Given the description of an element on the screen output the (x, y) to click on. 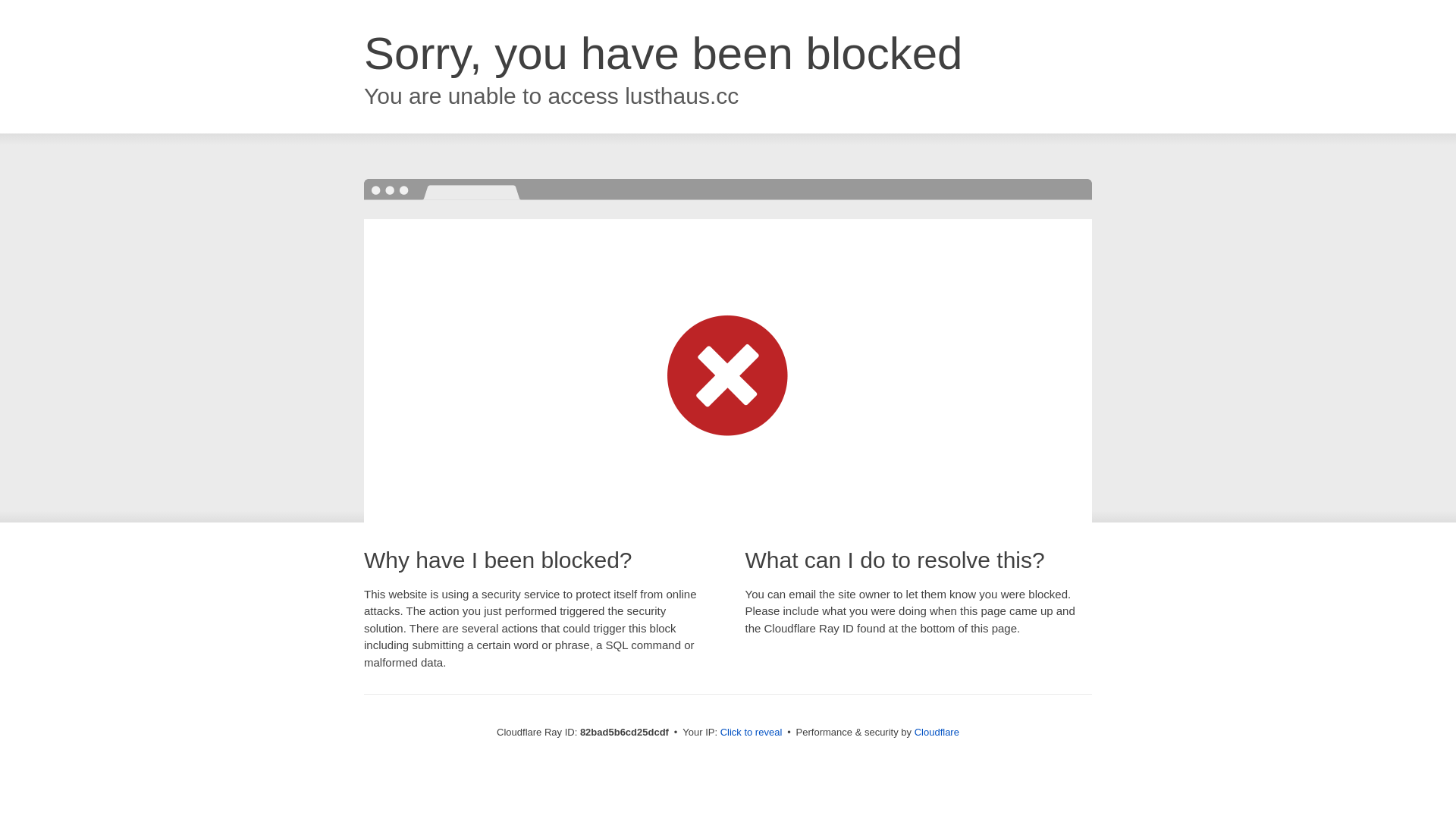
Click to reveal Element type: text (751, 732)
Cloudflare Element type: text (936, 731)
